Given the description of an element on the screen output the (x, y) to click on. 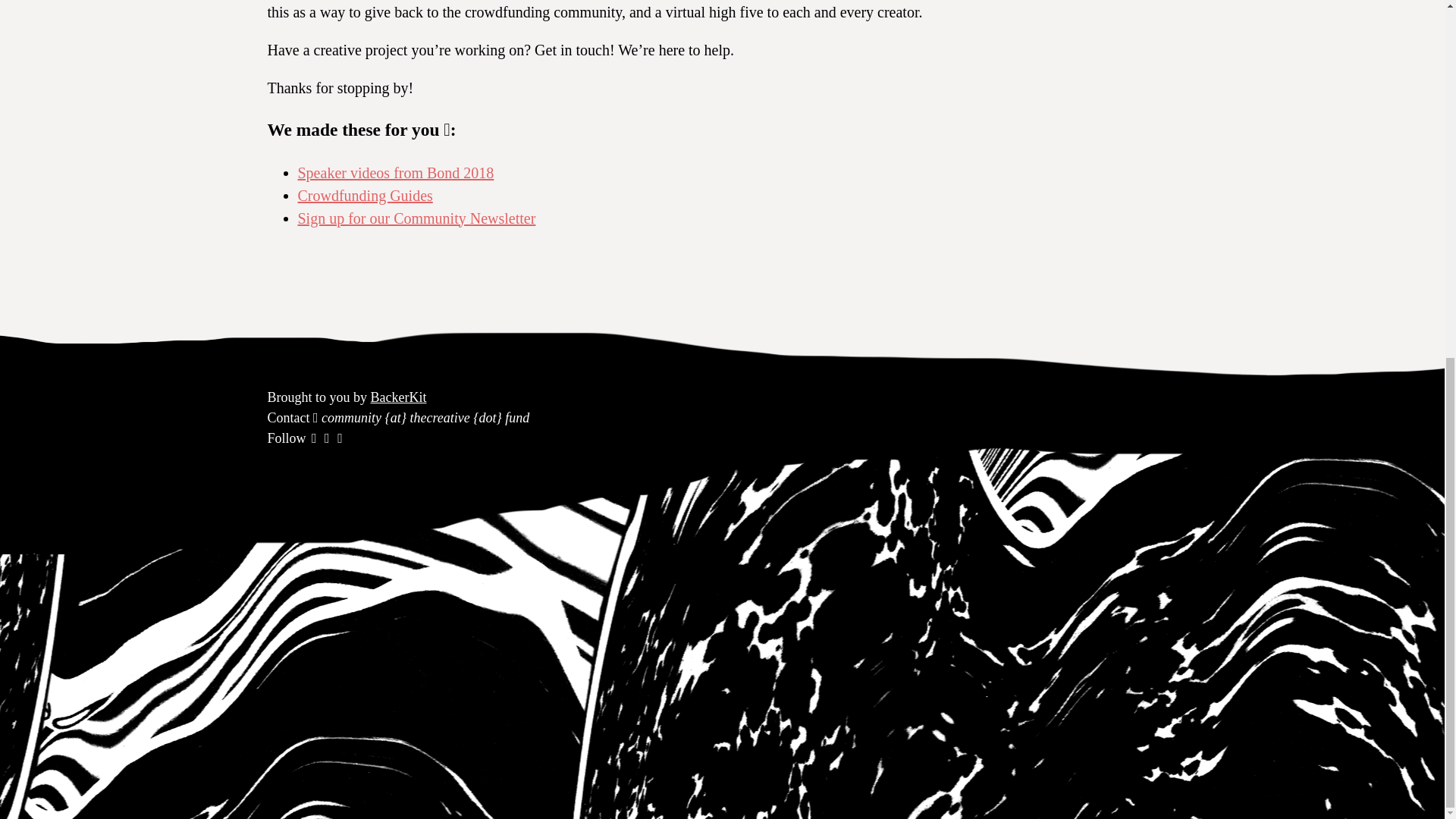
Speaker videos from Bond 2018 (395, 172)
BackerKit (398, 396)
Sign up for our Community Newsletter (416, 217)
Crowdfunding Guides (364, 195)
